Given the description of an element on the screen output the (x, y) to click on. 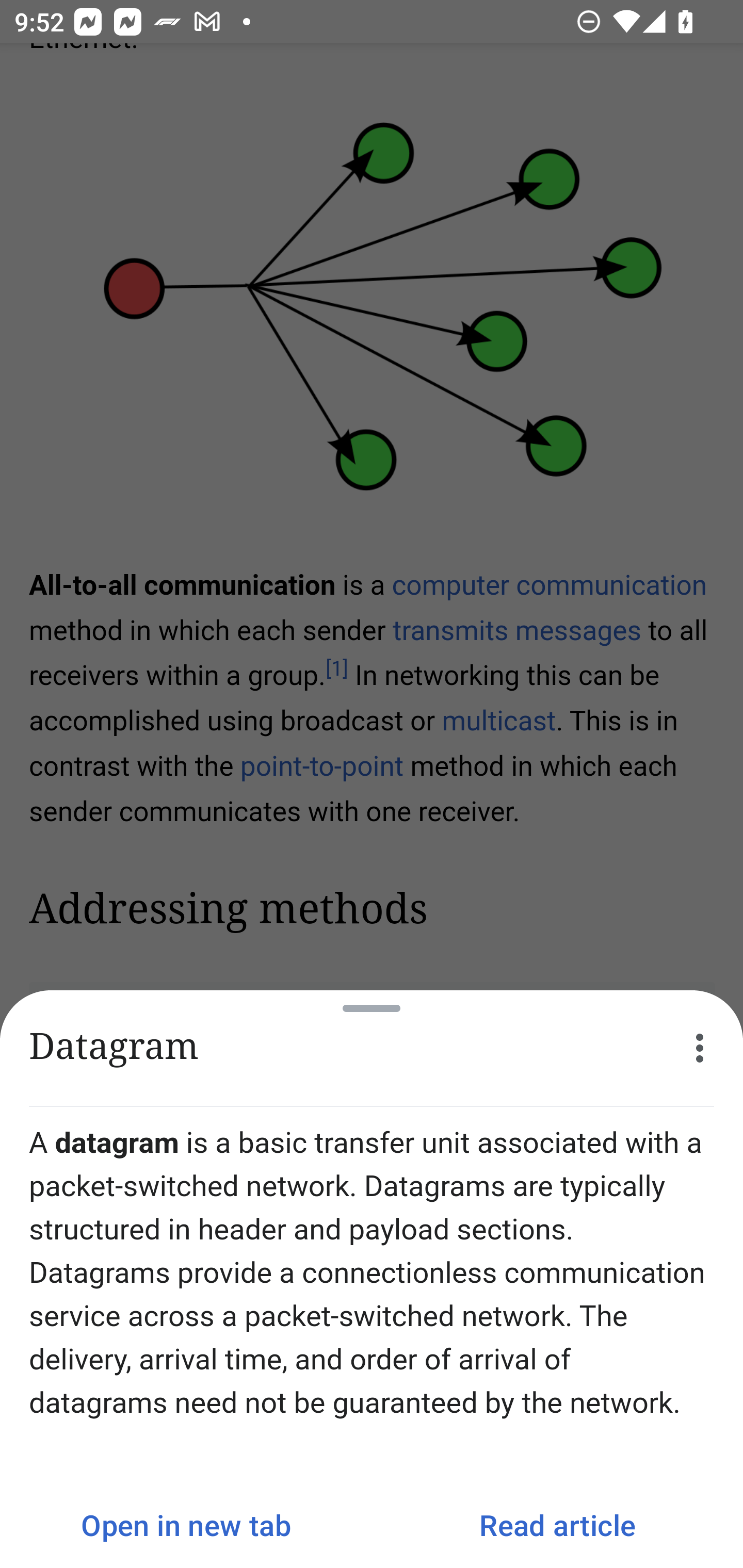
Datagram More options (371, 1047)
More options (699, 1048)
Open in new tab (185, 1524)
Read article (557, 1524)
